Given the description of an element on the screen output the (x, y) to click on. 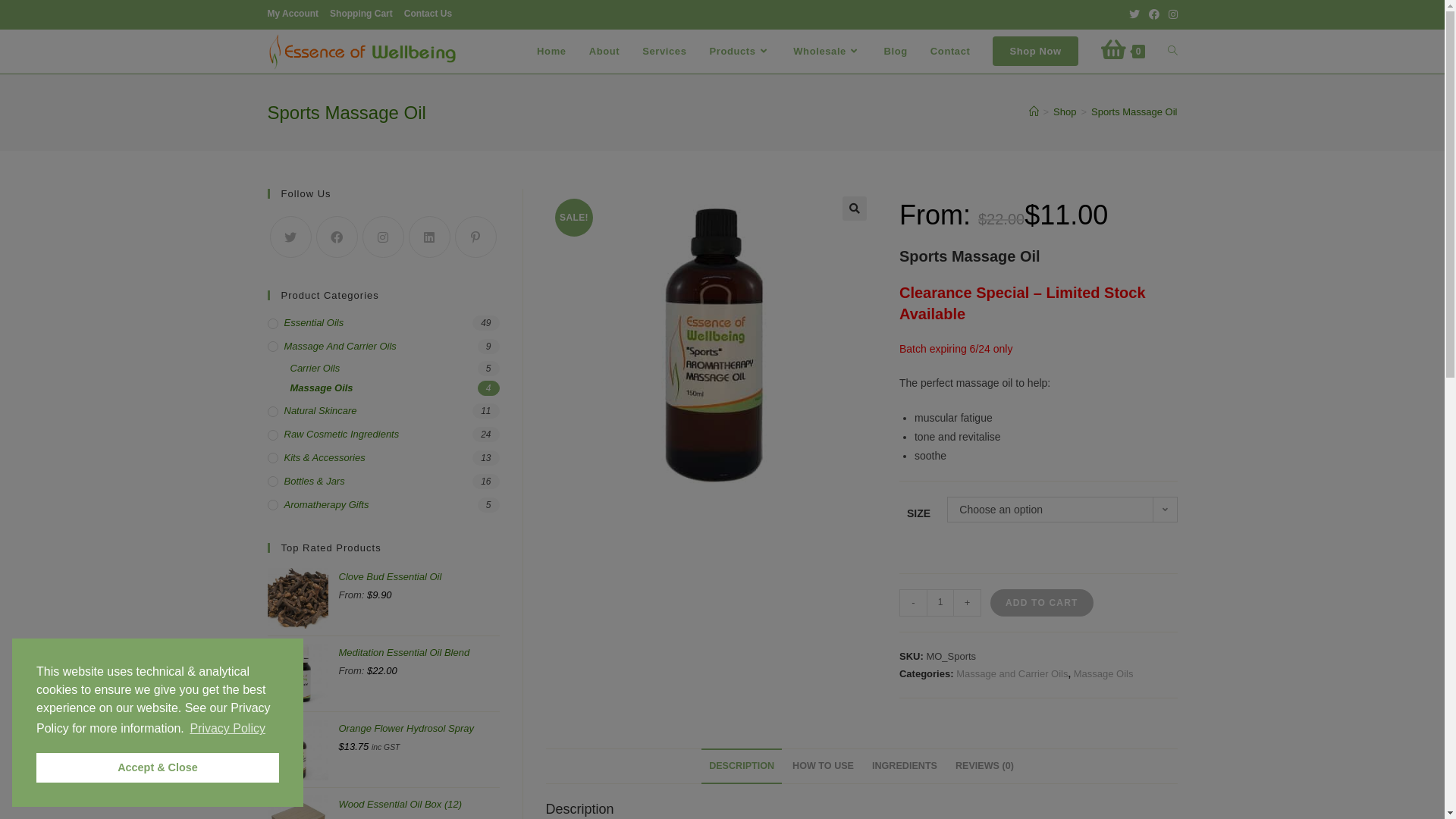
Massage and Carrier Oils Element type: text (1011, 673)
+ Element type: text (967, 602)
HOW TO USE Element type: text (822, 766)
Natural Skincare Element type: text (382, 411)
Essential Oils Element type: text (382, 323)
Meditation Essential Oil Blend Element type: text (418, 660)
Massage Oils Element type: text (1103, 673)
Blog Element type: text (895, 51)
Accept & Close Element type: text (157, 767)
Kits & Accessories Element type: text (382, 458)
Services Element type: text (663, 51)
Products Element type: text (739, 51)
My Account Element type: text (292, 14)
Home Element type: text (551, 51)
Orange Flower Hydrosol Spray Element type: text (418, 736)
- Element type: text (912, 602)
DESCRIPTION Element type: text (741, 766)
Carrier Oils Element type: text (393, 368)
Massage And Carrier Oils Element type: text (382, 346)
ADD TO CART Element type: text (1041, 602)
Bottles & Jars Element type: text (382, 481)
Sports Massage Oil Element type: text (1133, 111)
Shop Element type: text (1064, 111)
REVIEWS (0) Element type: text (984, 766)
Shopping Cart Element type: text (360, 14)
Aromatherapy Gifts Element type: text (382, 505)
MO_Sports Element type: hover (710, 352)
Privacy Policy Element type: text (227, 728)
Raw Cosmetic Ingredients Element type: text (382, 434)
Contact Element type: text (950, 51)
Shop Now Element type: text (1034, 51)
Massage Oils Element type: text (393, 388)
Clove Bud Essential Oil Element type: text (418, 585)
INGREDIENTS Element type: text (904, 766)
About Element type: text (604, 51)
Contact Us Element type: text (427, 14)
Wholesale Element type: text (826, 51)
0 Element type: text (1122, 51)
